Given the description of an element on the screen output the (x, y) to click on. 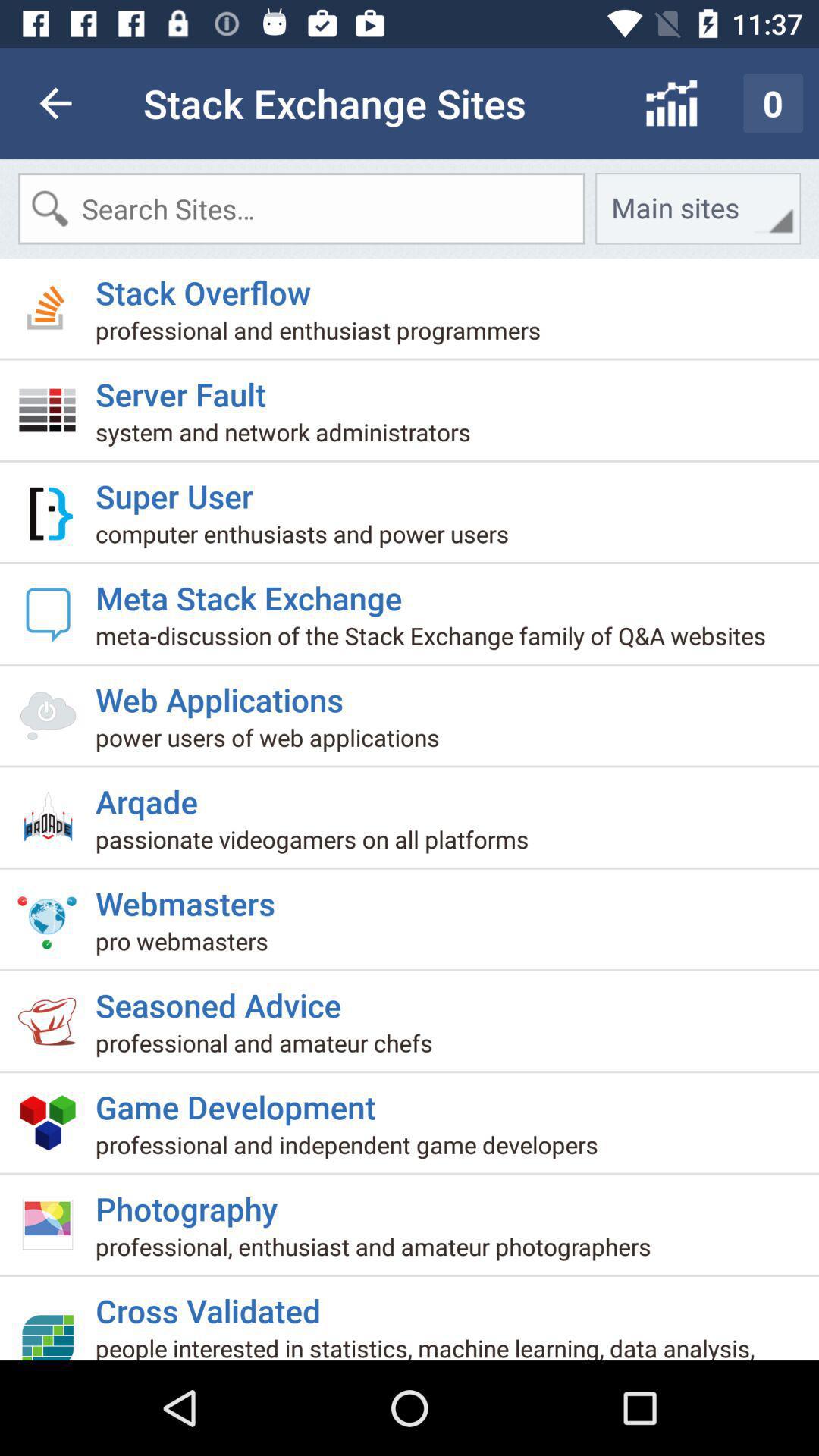
turn off item below the super user item (307, 539)
